Given the description of an element on the screen output the (x, y) to click on. 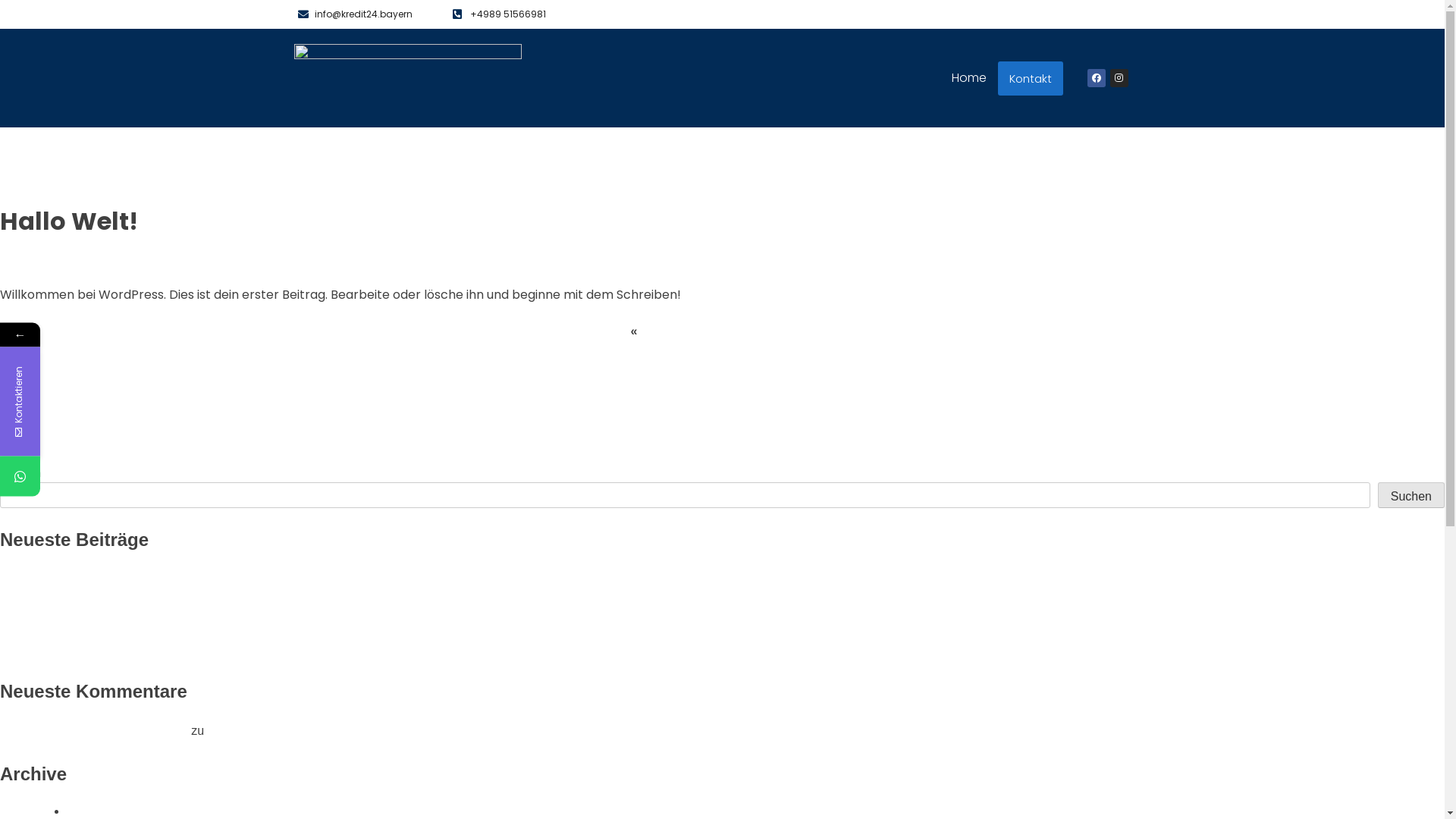
info@kredit24.bayern Element type: text (367, 14)
Hallo Welt! Element type: text (236, 730)
Kontakt Element type: text (1030, 77)
Full-featured Business Theme Element type: text (727, 330)
Our company has been awarded Element type: text (124, 613)
Previous: Full-featured Business Theme Element type: text (107, 435)
WhatsApp Element type: text (92, 476)
10 reasons for choosing SIMPLAR Element type: text (129, 631)
Home Element type: text (968, 77)
Absenden Element type: text (196, 633)
Ein WordPress-Kommentator Element type: text (109, 730)
August 2022 Element type: text (100, 810)
+4989 51566981 Element type: text (547, 14)
Business world becomes harder day by day Element type: text (153, 649)
Hallo Welt! Element type: text (65, 577)
Suchen Element type: text (1410, 495)
Full-featured Business Theme Element type: text (116, 595)
